Given the description of an element on the screen output the (x, y) to click on. 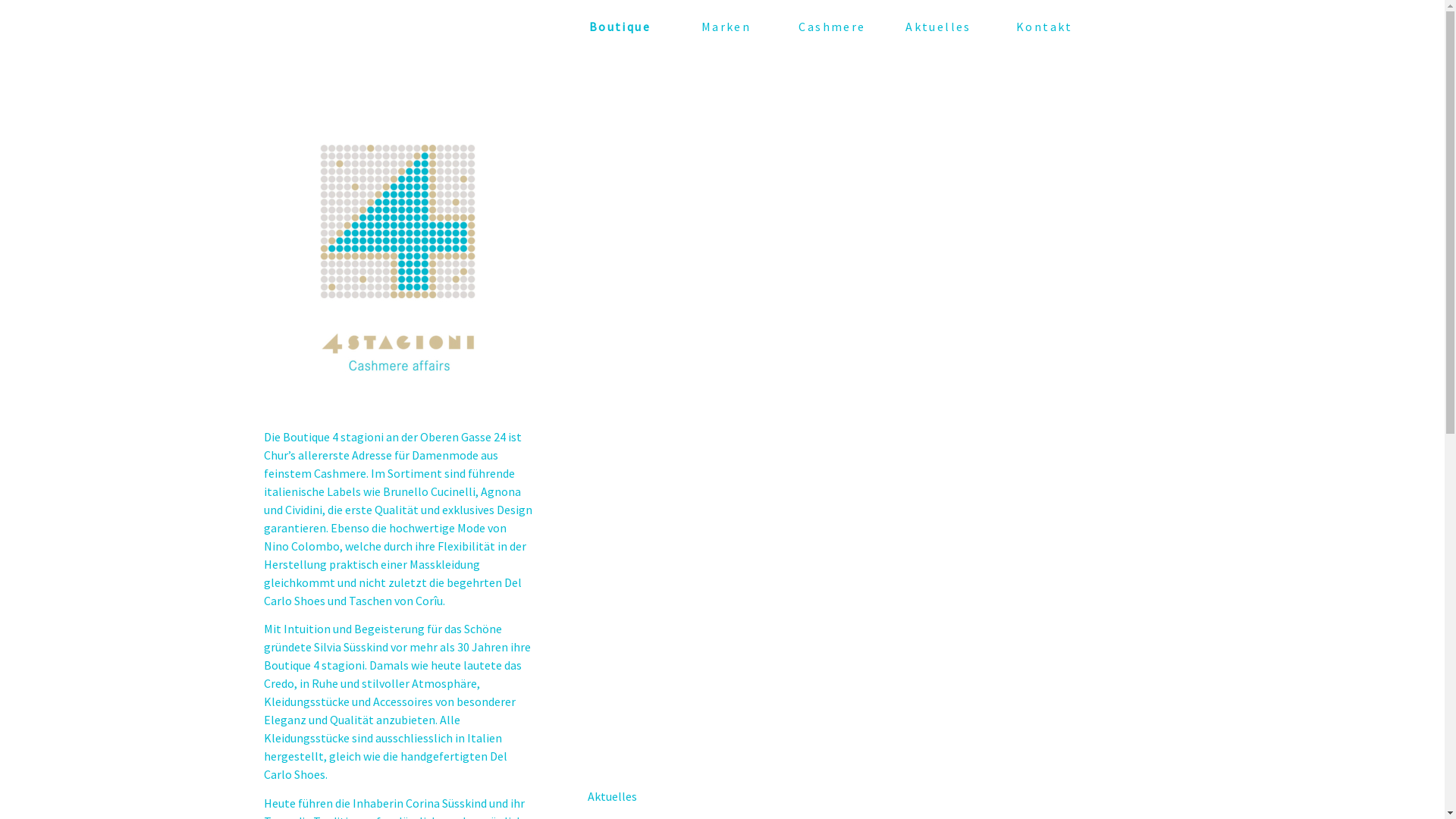
Cashmere Element type: text (832, 26)
Aktuelles Element type: text (938, 26)
Boutique Element type: text (620, 26)
Kontakt Element type: text (1044, 26)
Marken Element type: text (726, 26)
4-stagioni_logo_gold_mit-zusatz Element type: hover (397, 257)
